Given the description of an element on the screen output the (x, y) to click on. 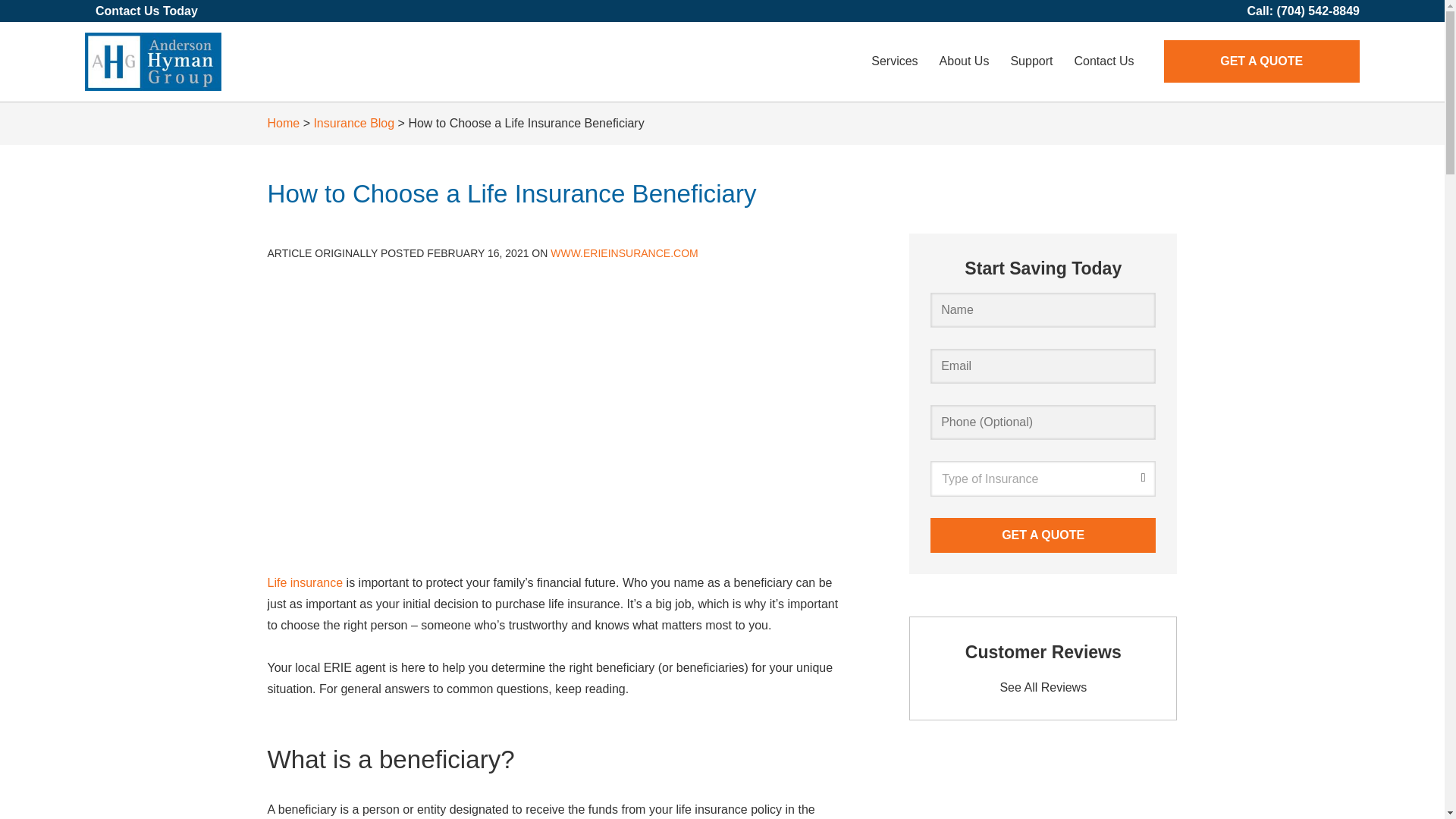
Logo (152, 61)
About Us (964, 61)
Services (894, 61)
Get A Quote (1043, 534)
Contact Us Today (147, 10)
